Given the description of an element on the screen output the (x, y) to click on. 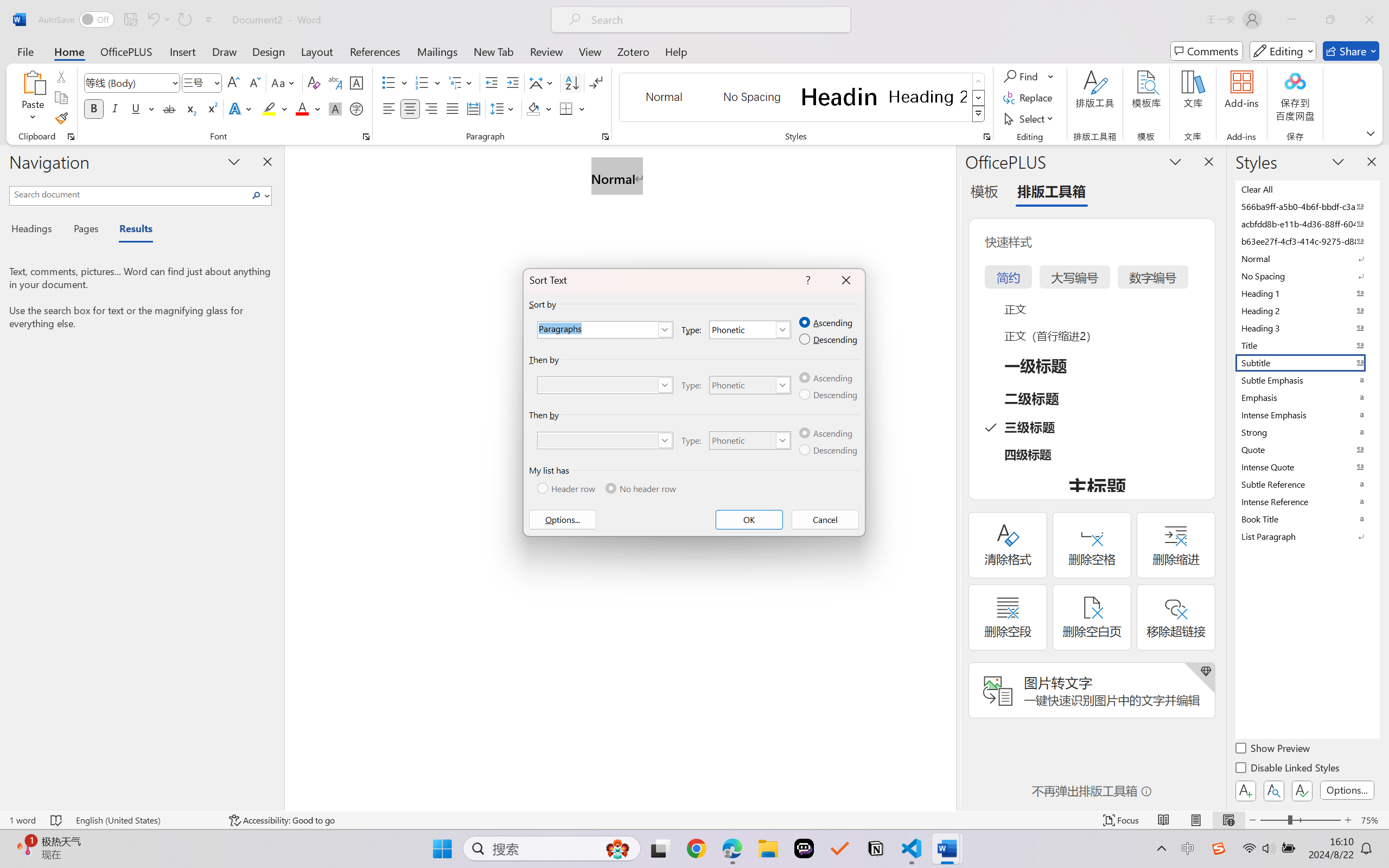
Sort by (605, 329)
View (589, 51)
Read Mode (1163, 819)
Distributed (473, 108)
Zoom In (1348, 819)
Heading 2 (927, 96)
Draw (224, 51)
Design (268, 51)
Strong (1306, 431)
Paragraph... (605, 136)
List Paragraph (1306, 536)
